Given the description of an element on the screen output the (x, y) to click on. 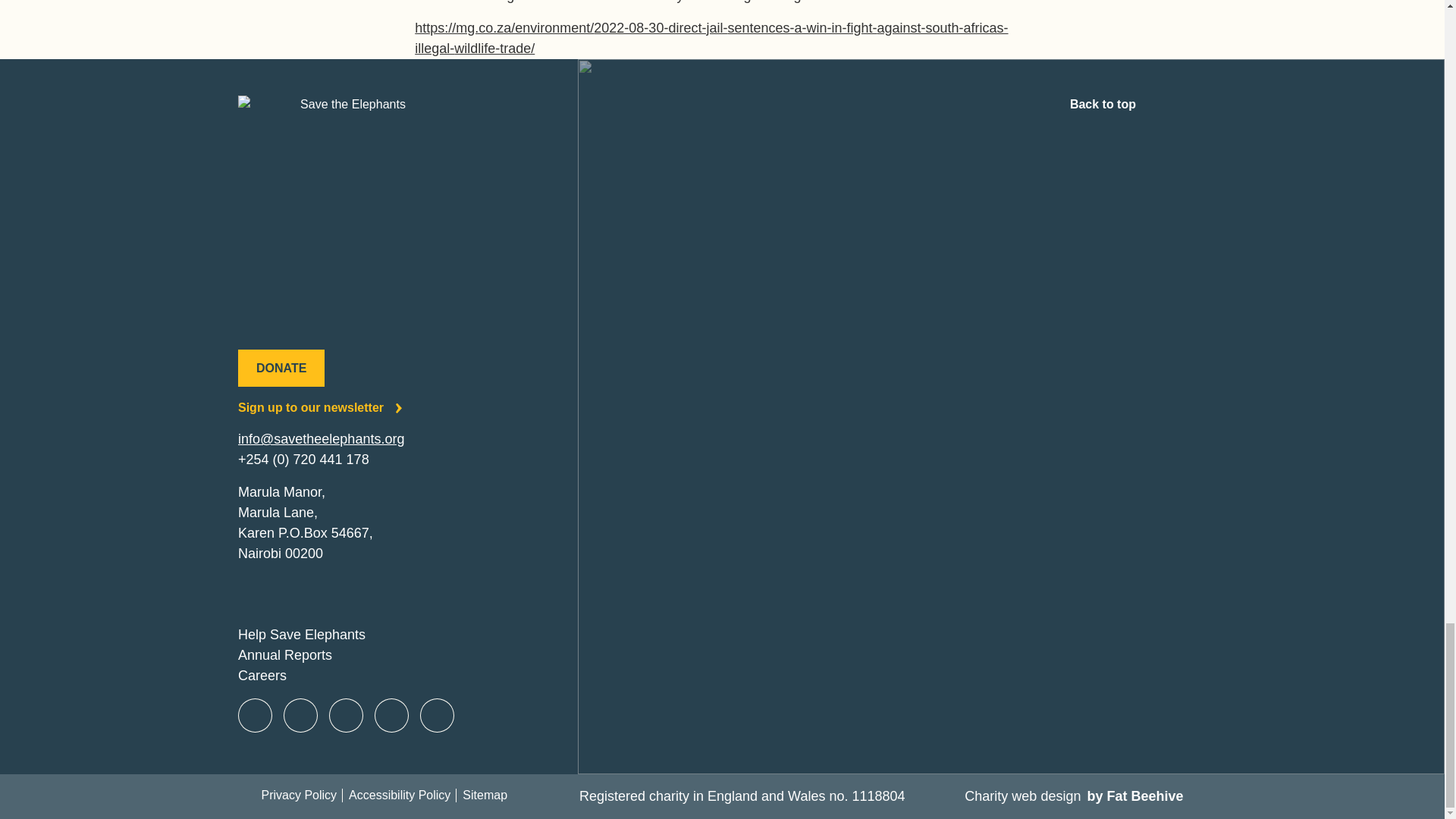
Facebook (254, 715)
Instagram (346, 715)
Twitter (301, 715)
Linkedin (437, 715)
Youtube (391, 715)
